Given the description of an element on the screen output the (x, y) to click on. 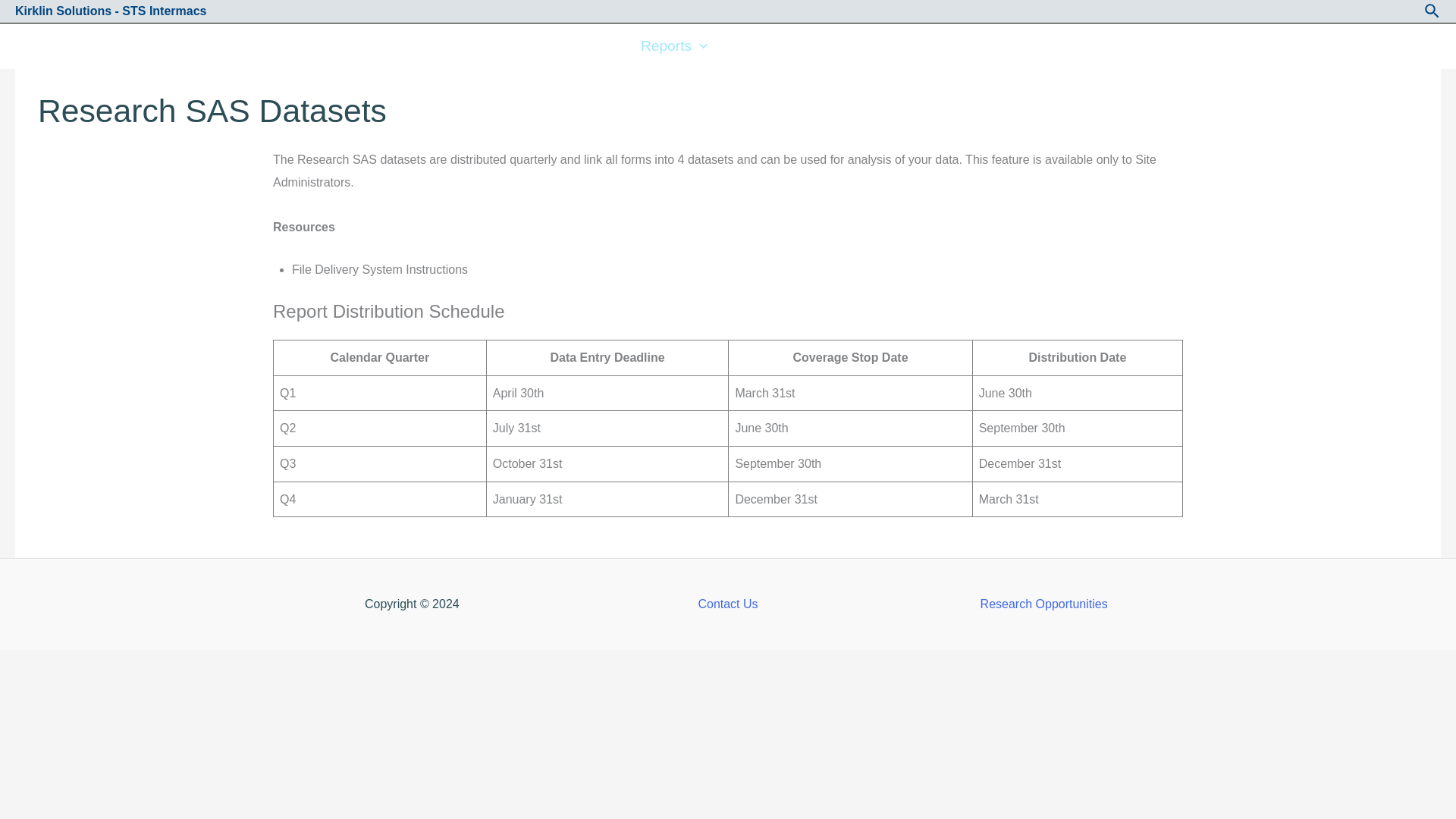
Contact Us (882, 45)
Research (275, 45)
Intermacs Appendices (540, 45)
Participation (390, 45)
Administration (151, 45)
Reports (674, 45)
Home (48, 45)
Pedimacs (776, 45)
